Given the description of an element on the screen output the (x, y) to click on. 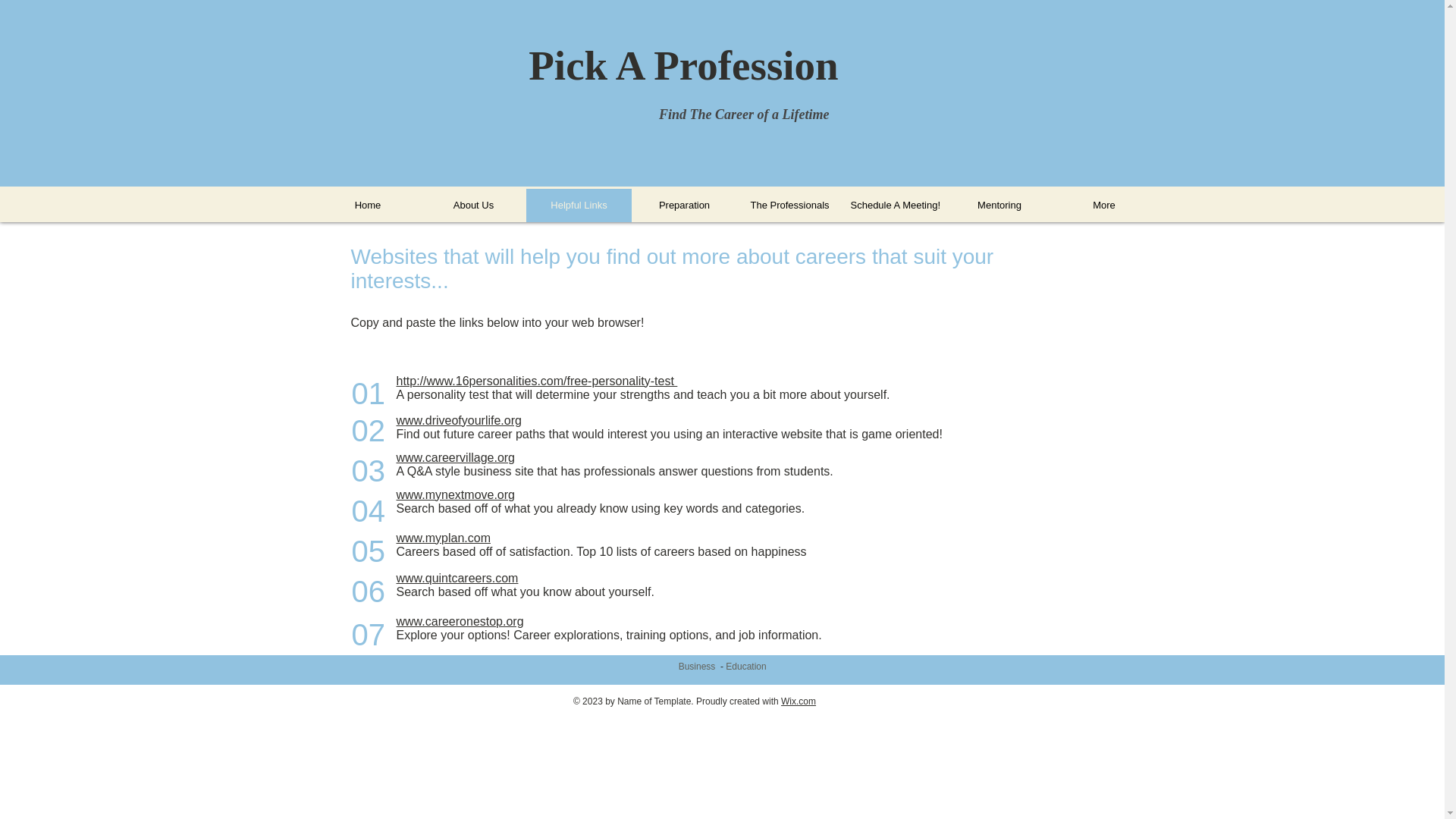
www.careervillage.org (455, 457)
Schedule A Meeting! (893, 205)
www.quintcareers.com (457, 577)
Wix.com (797, 701)
Home (367, 205)
www.mynextmove.org (455, 494)
The Professionals (789, 205)
www.myplan.com (442, 537)
Preparation (683, 205)
www.driveofyourlife.org (458, 420)
About Us (472, 205)
Mentoring (998, 205)
www.careeronestop.org (459, 621)
Helpful Links (578, 205)
